Given the description of an element on the screen output the (x, y) to click on. 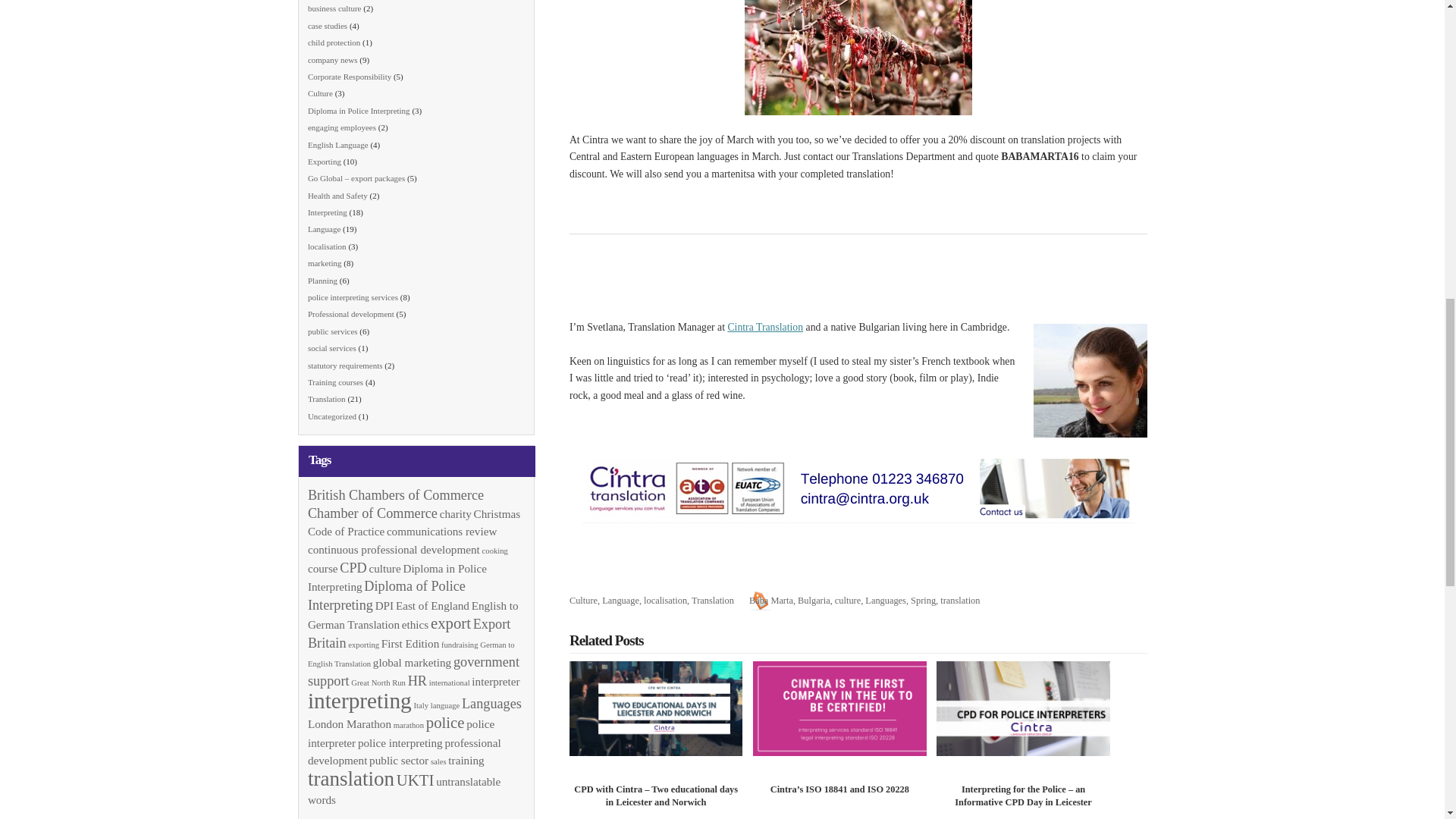
translation (959, 600)
culture (847, 600)
Translation (712, 600)
Spring (923, 600)
Bulgaria (813, 600)
Language (620, 600)
case studies (327, 25)
Baba Marta (771, 600)
Culture (582, 600)
company news (332, 59)
Cintra Translation (764, 326)
Culture (320, 92)
business culture (334, 8)
Languages (884, 600)
Corporate Responsibility (349, 76)
